Given the description of an element on the screen output the (x, y) to click on. 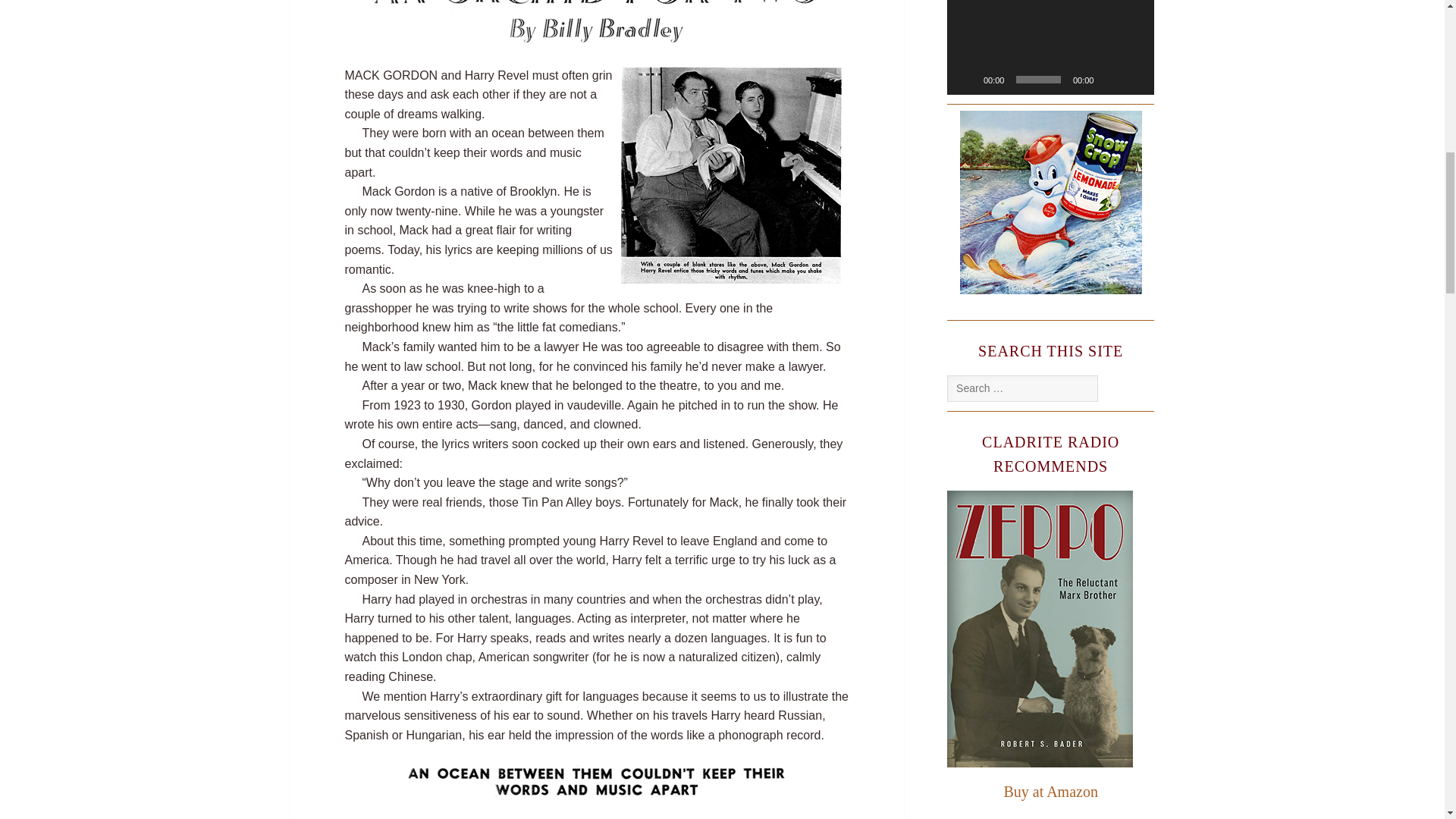
Mute (1110, 79)
Fullscreen (1133, 79)
Play (966, 79)
